Given the description of an element on the screen output the (x, y) to click on. 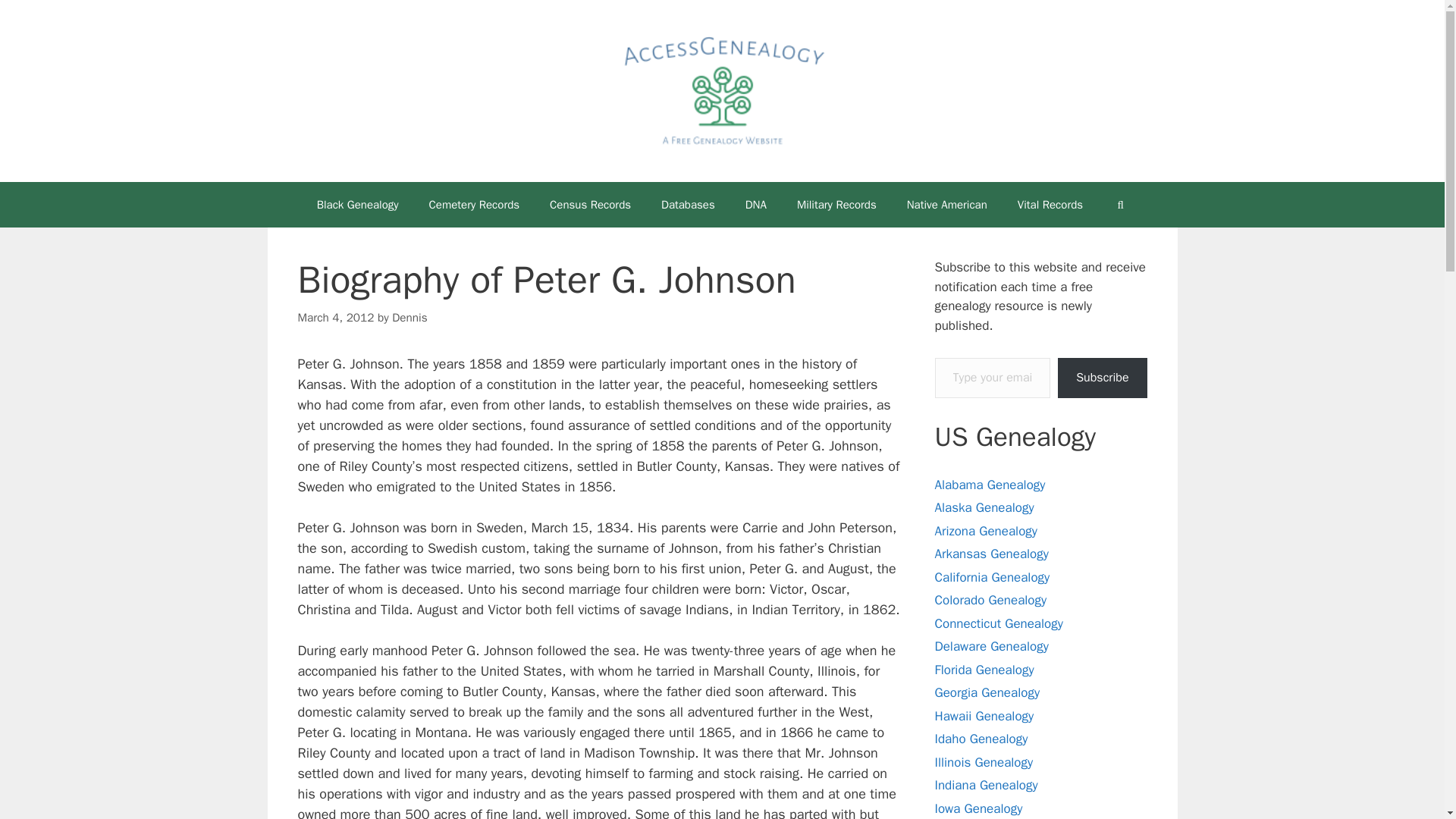
Census Records (590, 204)
Alaska Genealogy (983, 507)
Dennis (408, 317)
United States Cemetery Records (474, 204)
Black Genealogy (357, 204)
Native American History and Genealogy (947, 204)
Native American (947, 204)
DNA (755, 204)
United States Military Records (836, 204)
Alabama Genealogy (989, 484)
